Given the description of an element on the screen output the (x, y) to click on. 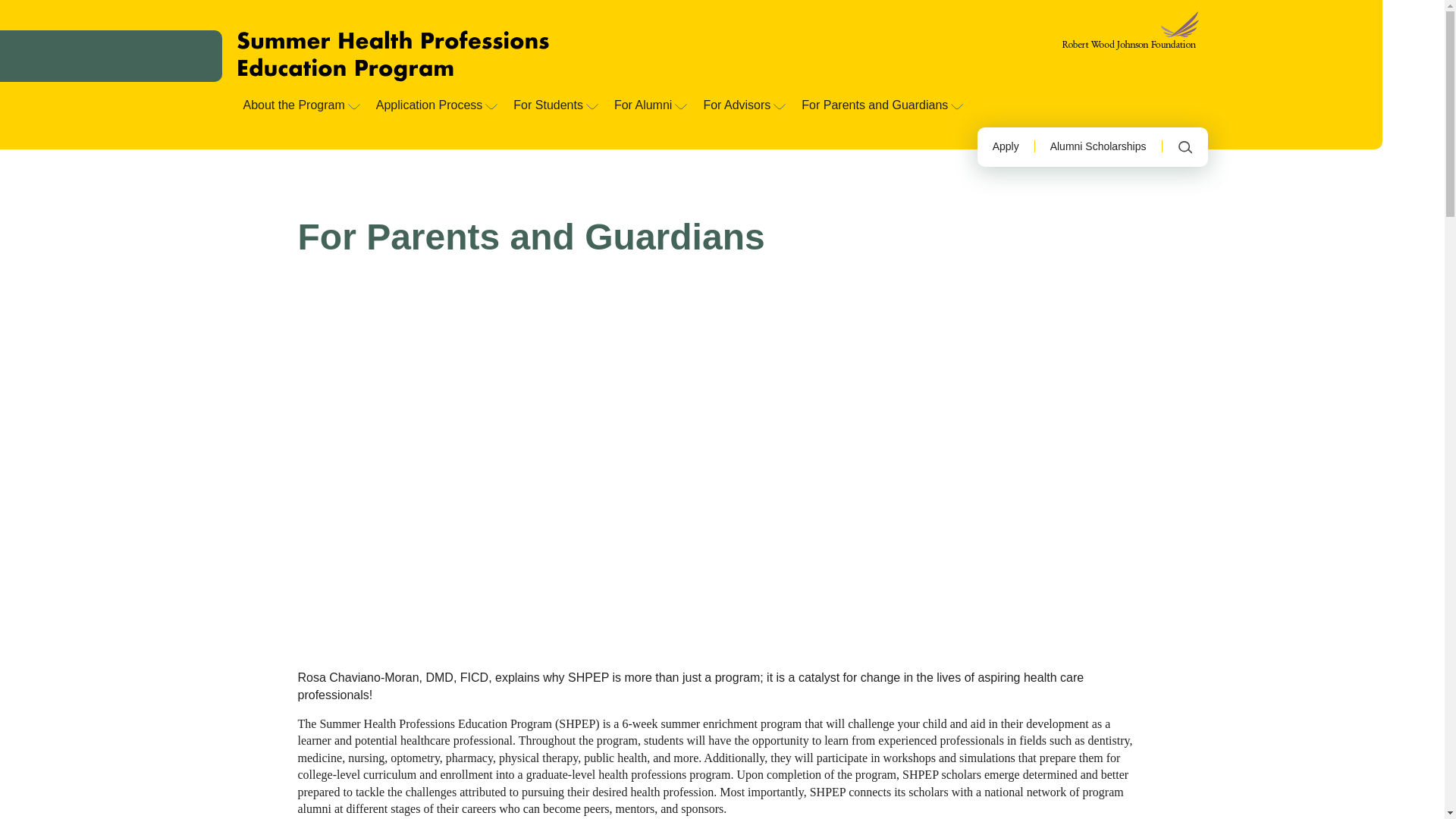
For Alumni (649, 105)
Home (391, 55)
Skip to main content (762, 6)
For Students (554, 105)
For Parents and Guardians (880, 105)
About the Program (298, 105)
For Advisors (743, 105)
Application Process (435, 105)
